Given the description of an element on the screen output the (x, y) to click on. 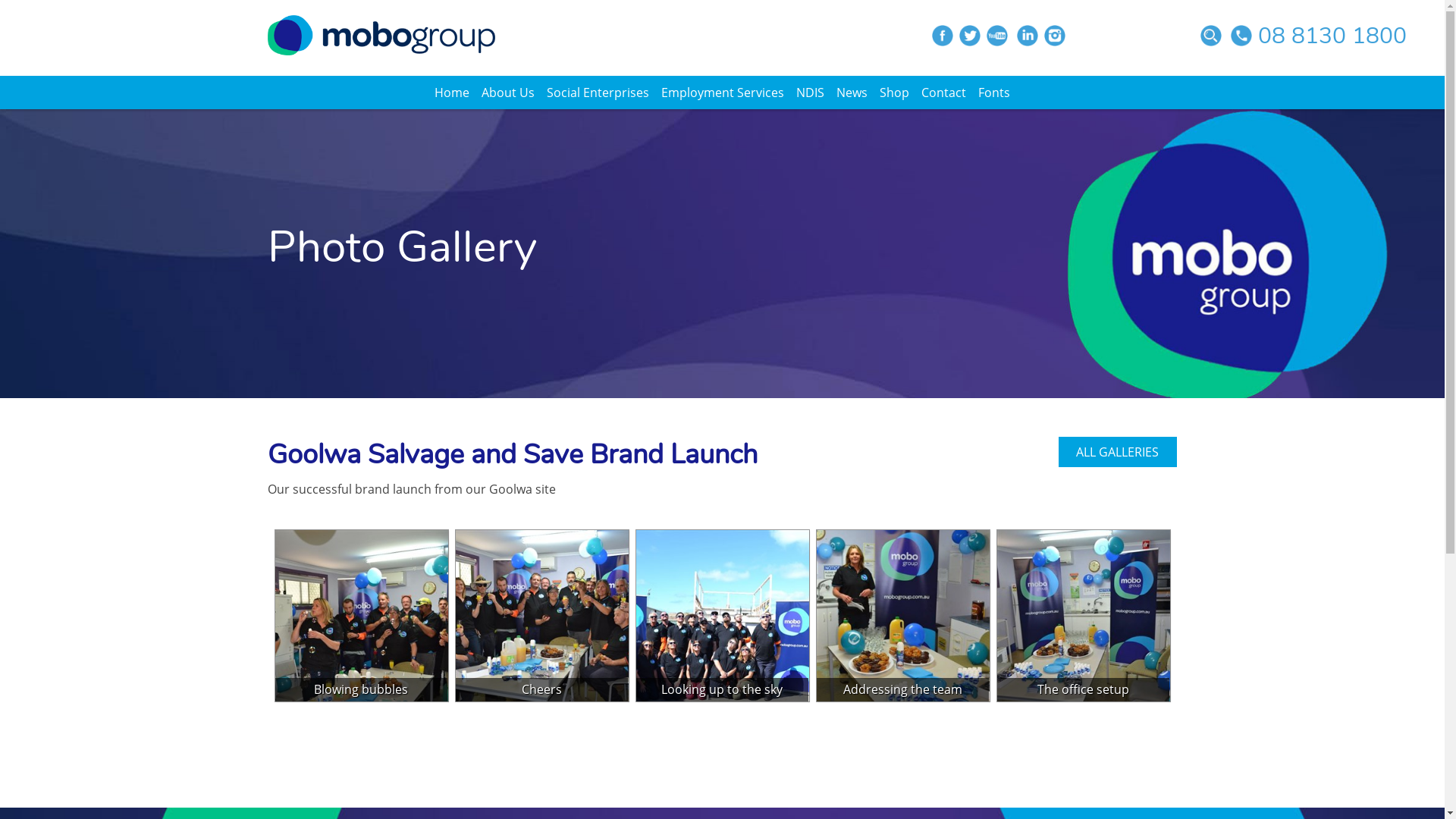
News Element type: text (851, 92)
Cheers Element type: text (541, 615)
Home Element type: text (451, 92)
Shop Element type: text (894, 92)
MOBOGROUP.COM.AU Element type: hover (380, 35)
NDIS Element type: text (810, 92)
ALL GALLERIES Element type: text (1117, 451)
Looking up to the sky Element type: text (721, 615)
Blowing bubbles Element type: text (360, 615)
About Us Element type: text (507, 92)
Contact Element type: text (943, 92)
Employment Services Element type: text (722, 92)
Fonts Element type: text (994, 92)
Addressing the team Element type: text (901, 615)
The office setup Element type: text (1082, 615)
Social Enterprises Element type: text (597, 92)
